Given the description of an element on the screen output the (x, y) to click on. 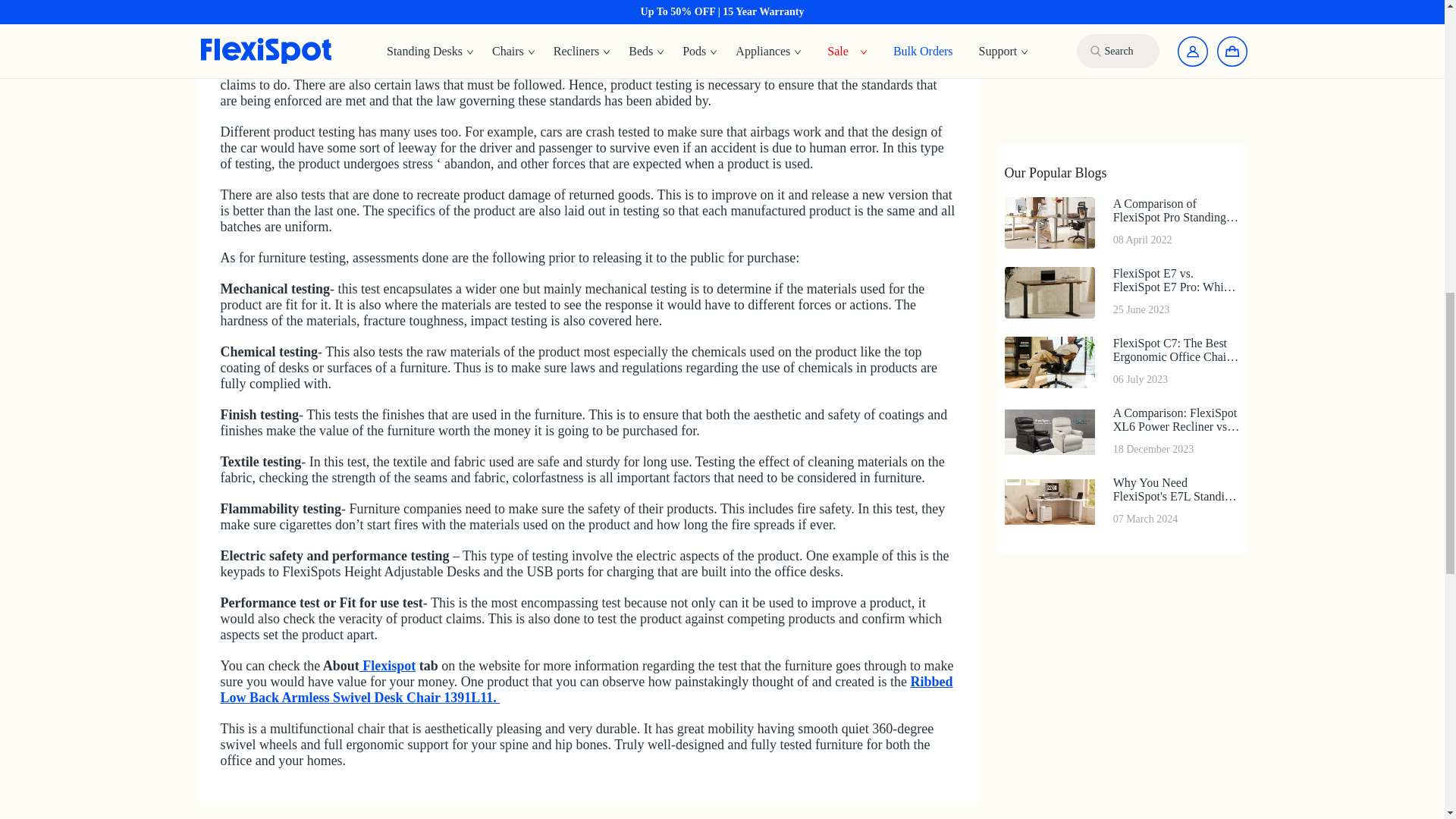
 Flexispot (387, 665)
Ribbed Low Back Armless Swivel Desk Chair 1391L11.  (585, 689)
